Given the description of an element on the screen output the (x, y) to click on. 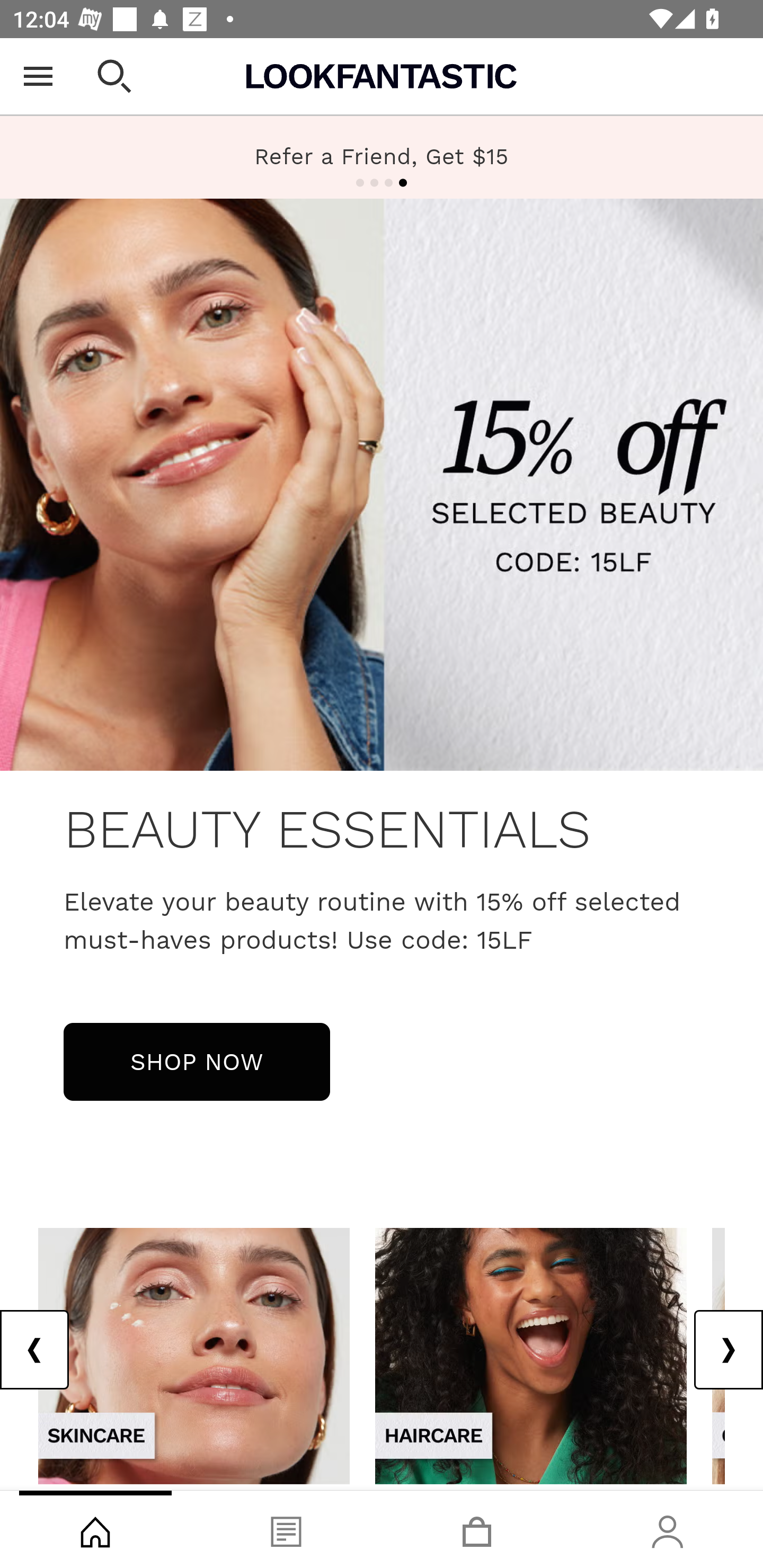
Open Menu (38, 75)
Open search (114, 75)
Lookfantastic USA (381, 75)
SHOP NOW (196, 1061)
view-all (193, 1355)
view-all (530, 1355)
Previous (35, 1349)
Next (727, 1349)
Shop, tab, 1 of 4 (95, 1529)
Blog, tab, 2 of 4 (285, 1529)
Basket, tab, 3 of 4 (476, 1529)
Account, tab, 4 of 4 (667, 1529)
